Given the description of an element on the screen output the (x, y) to click on. 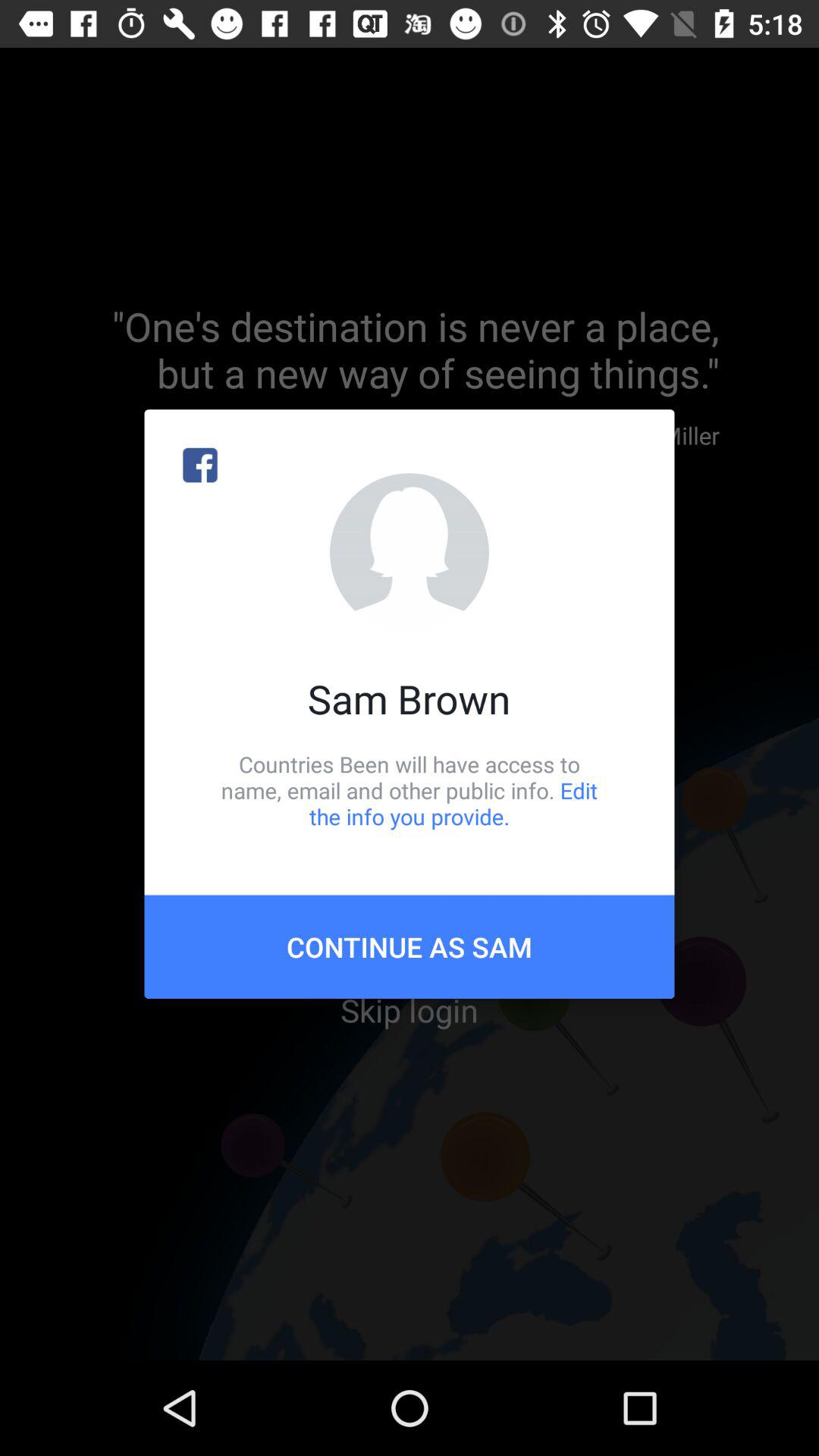
select the icon below sam brown (409, 790)
